Given the description of an element on the screen output the (x, y) to click on. 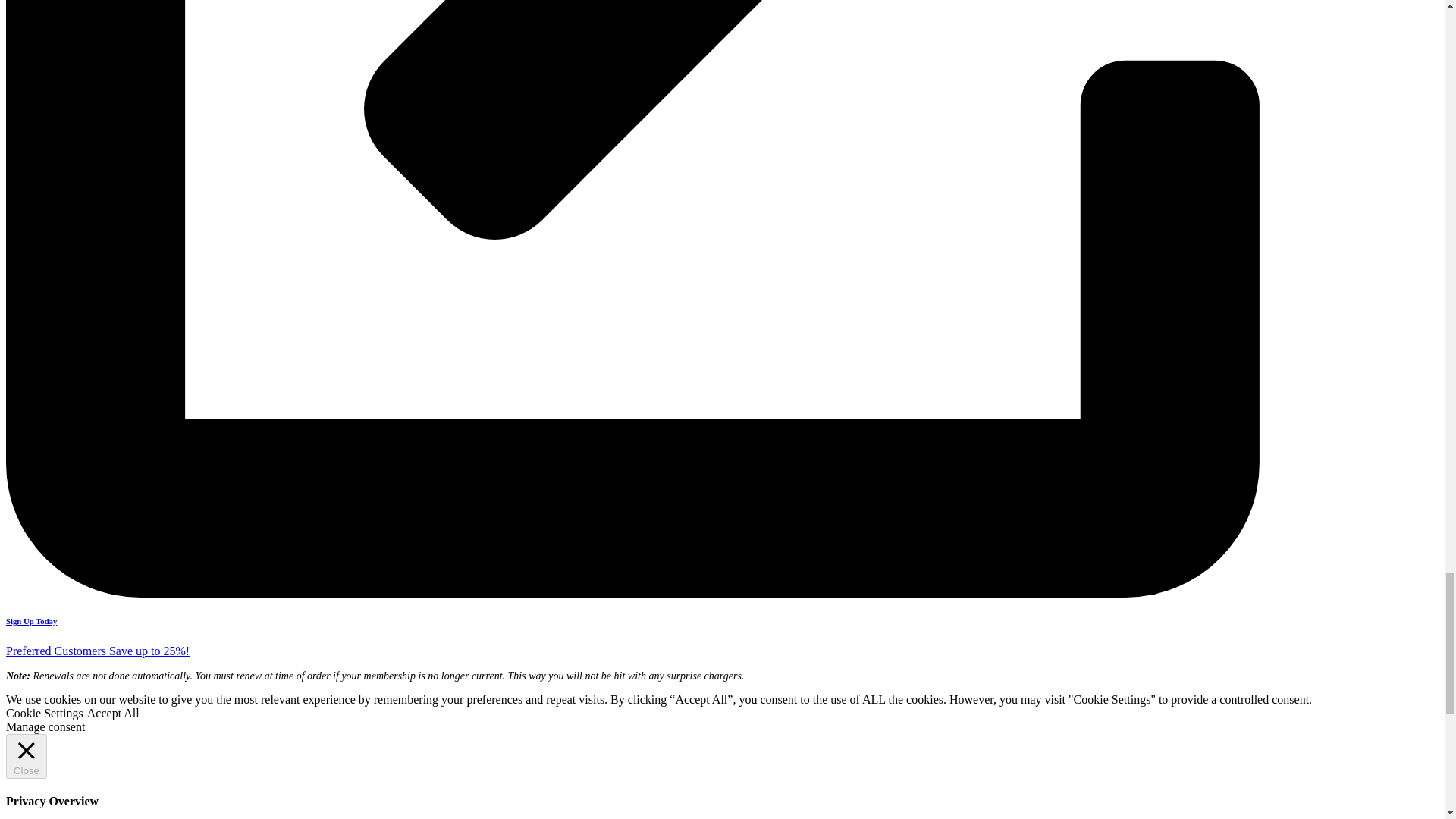
Close (25, 755)
Cookie Settings (43, 712)
Accept All (113, 712)
